Given the description of an element on the screen output the (x, y) to click on. 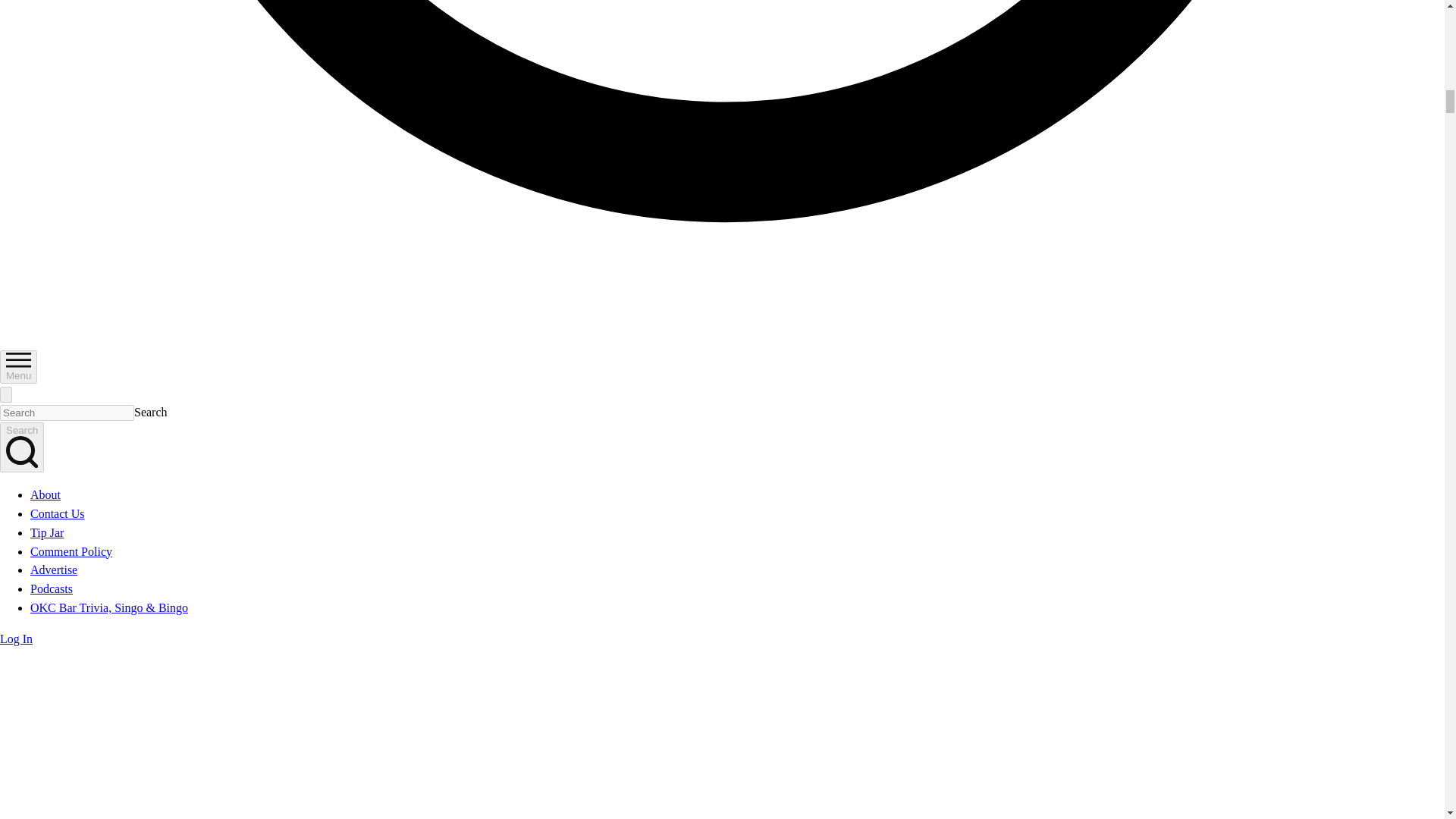
Advertise (53, 569)
Podcasts (51, 588)
Tip Jar (47, 532)
Contact Us (57, 513)
Menu (18, 366)
Comment Policy (71, 551)
About (45, 494)
